Given the description of an element on the screen output the (x, y) to click on. 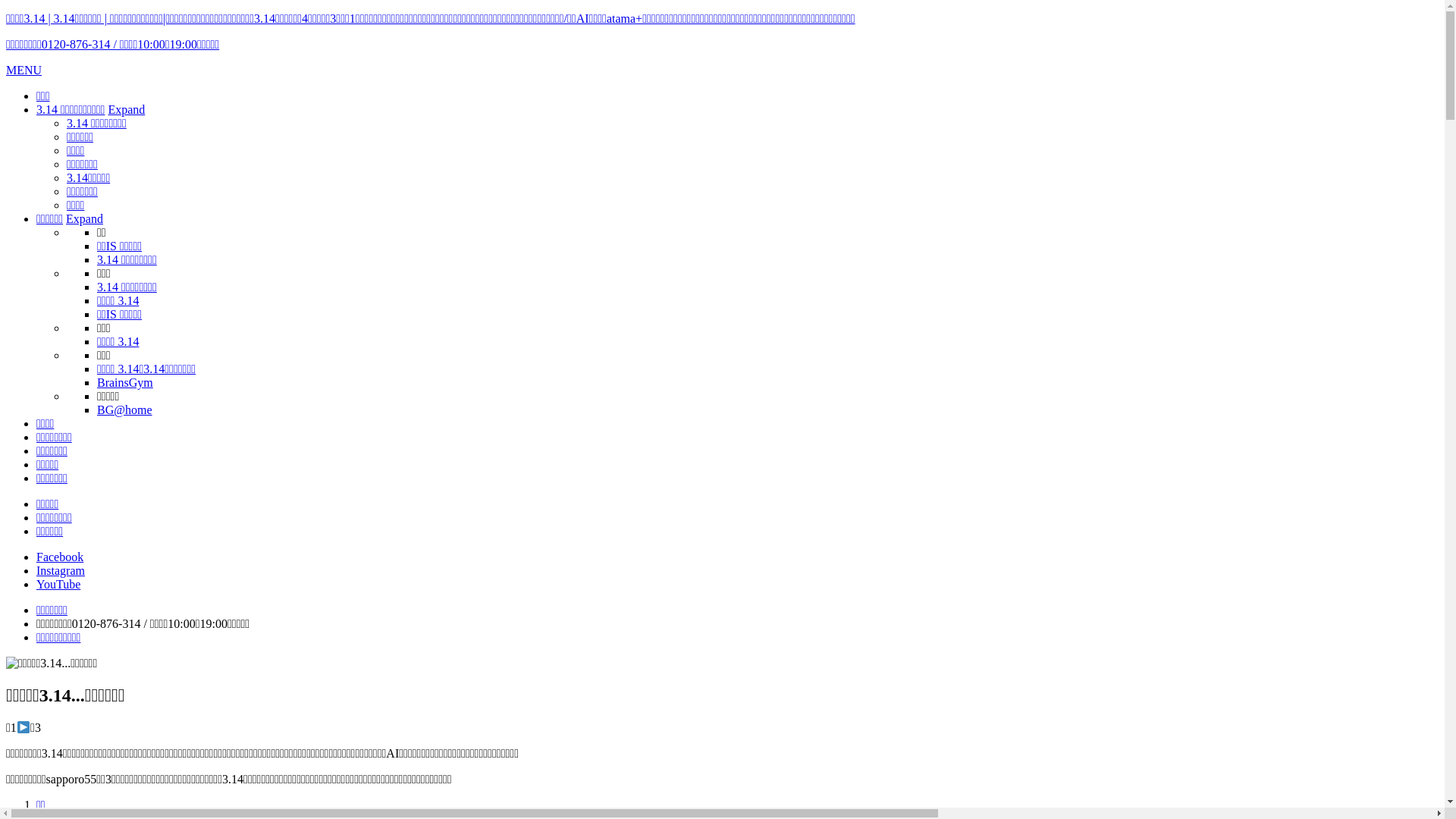
Expand Element type: text (125, 109)
Expand Element type: text (84, 218)
BrainsGym Element type: text (125, 382)
BG@home Element type: text (124, 409)
Facebook Element type: text (59, 556)
Instagram Element type: text (60, 570)
MENU Element type: text (23, 69)
YouTube Element type: text (58, 583)
